Given the description of an element on the screen output the (x, y) to click on. 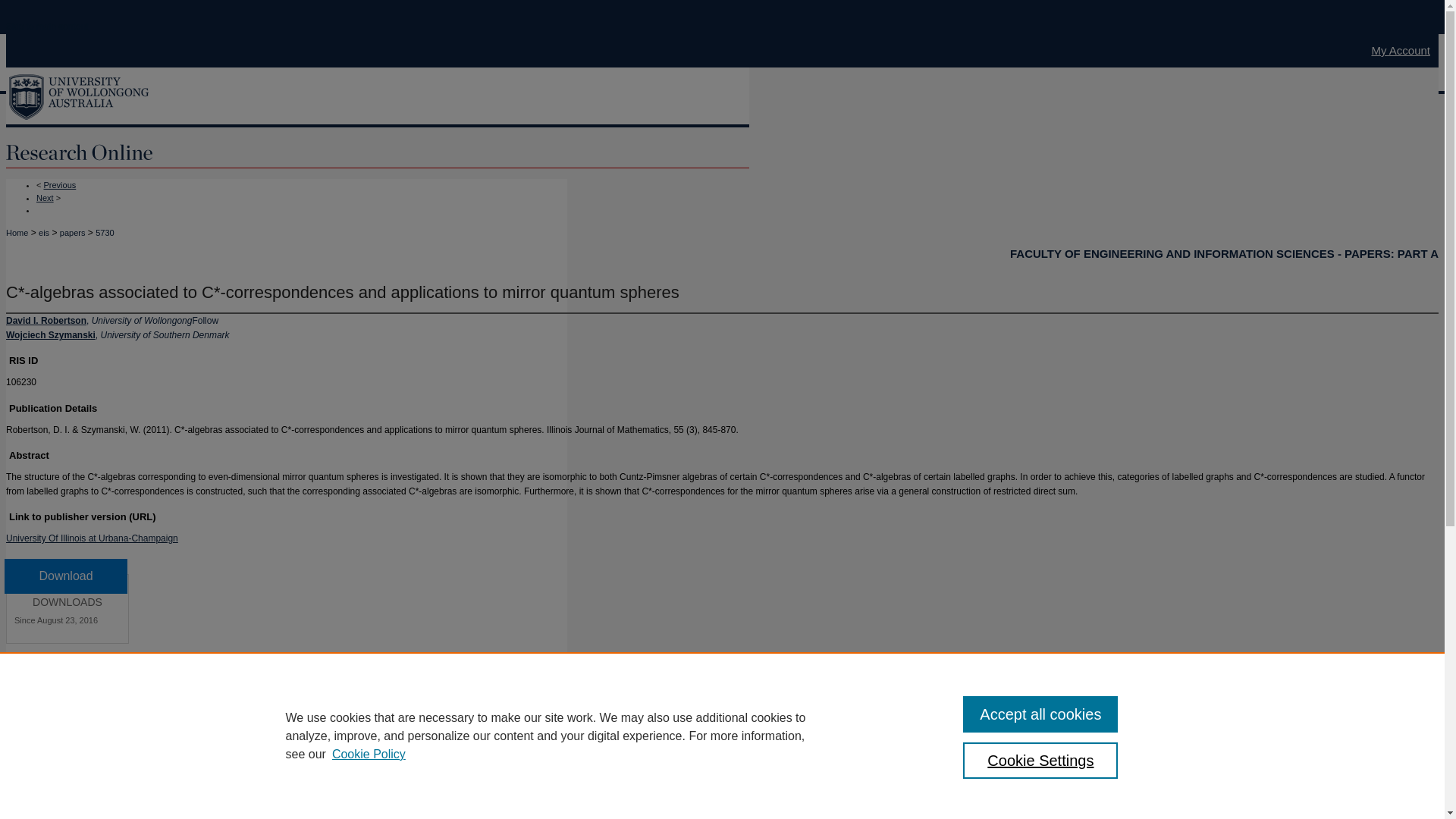
Engineering Commons (52, 694)
papers (72, 231)
David I. Robertson, University of Wollongong (98, 320)
Wojciech Szymanski, University of Southern Denmark (117, 335)
Home (16, 231)
LinkedIn (40, 779)
Facebook (16, 779)
Follow (205, 320)
eis (44, 231)
Previous (59, 184)
Engineering Commons (52, 694)
Share (113, 779)
Skip to main content (46, 26)
WhatsApp (65, 779)
Follow David I. Robertson (205, 320)
